Given the description of an element on the screen output the (x, y) to click on. 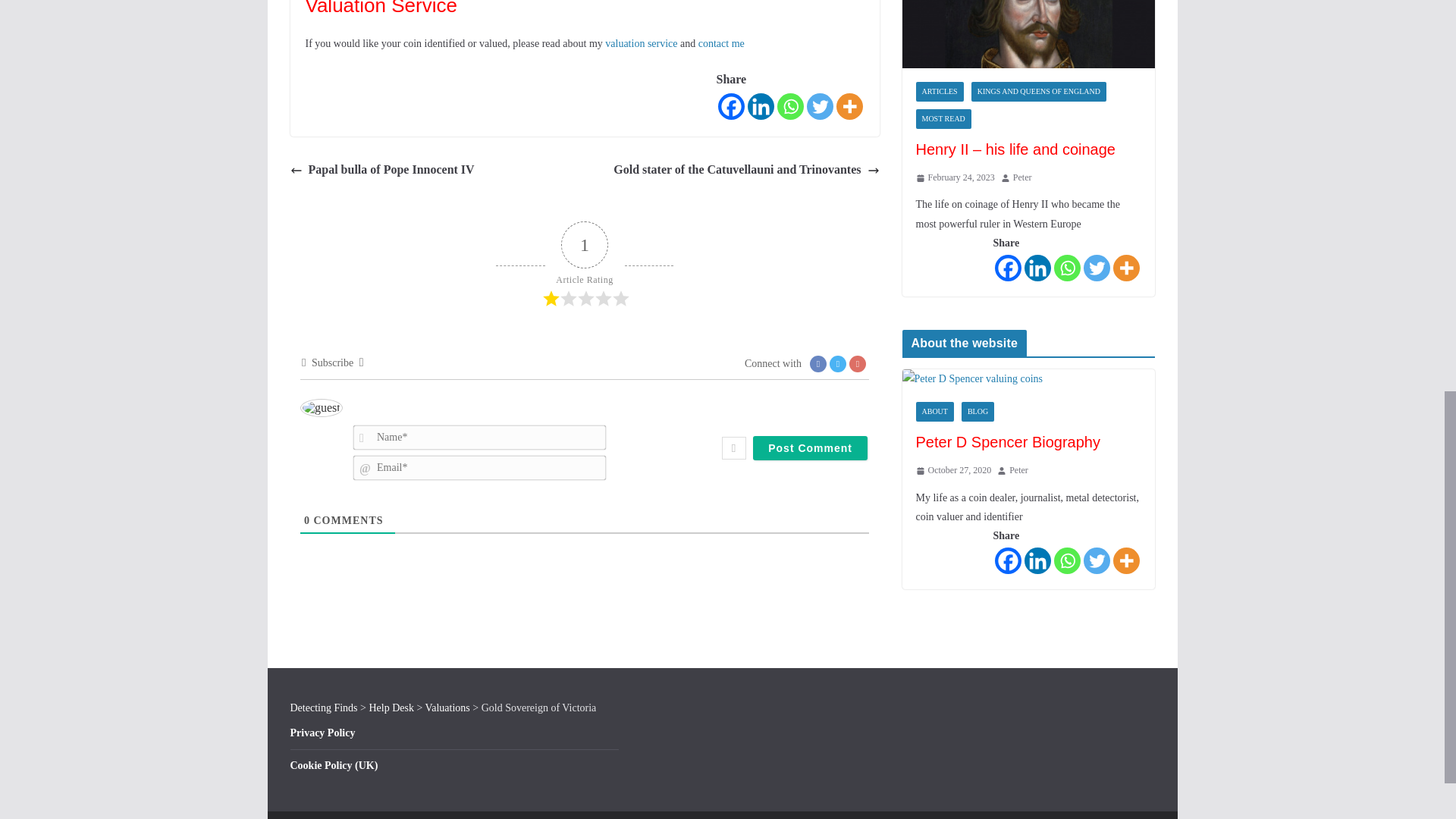
Linkedin (761, 106)
More (848, 106)
Whatsapp (789, 106)
Twitter (819, 106)
Facebook (730, 106)
contact me (721, 43)
valuation service (641, 43)
Post Comment (809, 447)
Papal bulla of Pope Innocent IV (381, 169)
